Given the description of an element on the screen output the (x, y) to click on. 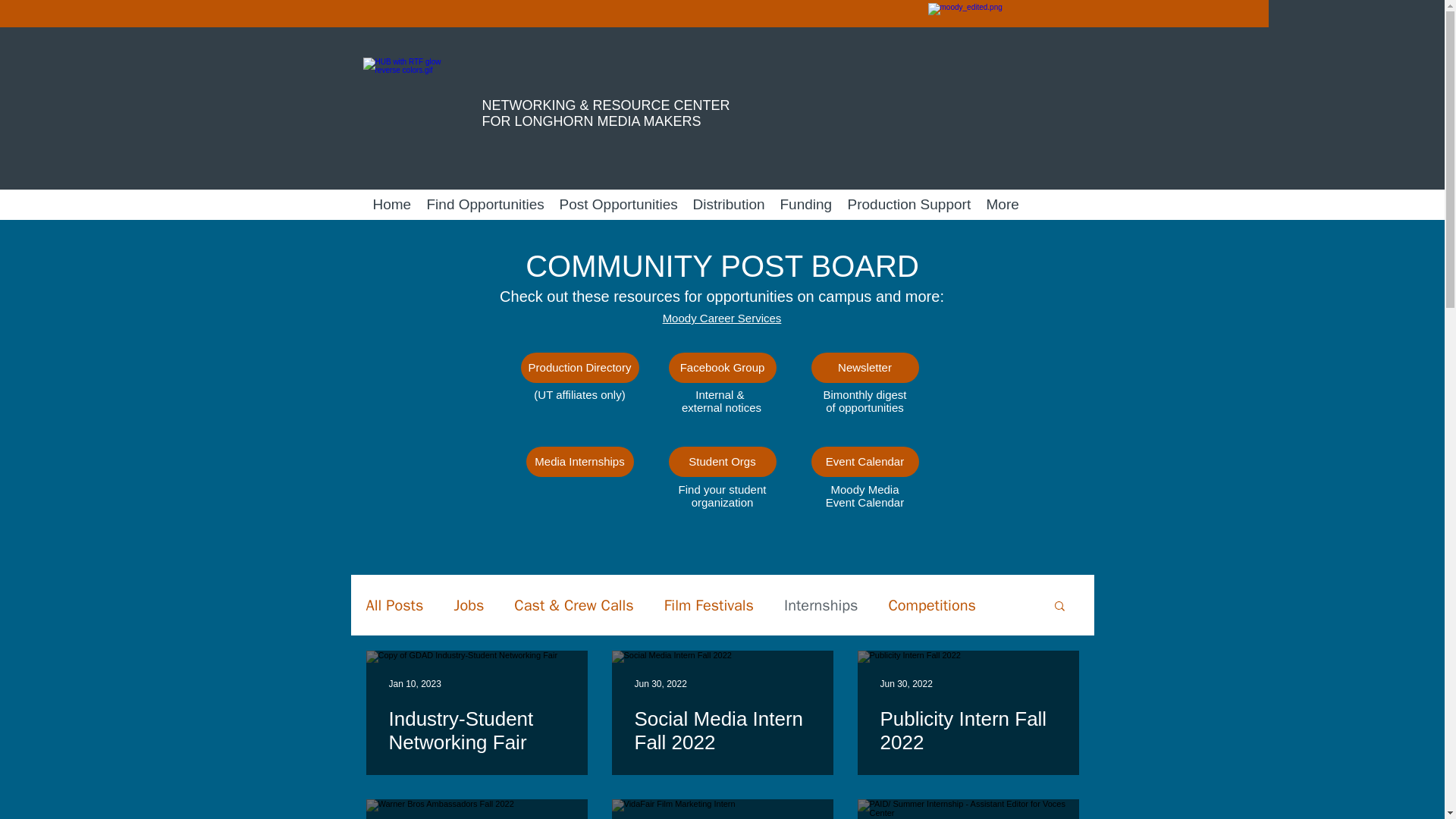
Publicity Intern Fall 2022 (967, 730)
Production Directory (579, 367)
More (1002, 204)
Film Festivals (708, 604)
Production Support (909, 204)
Jun 30, 2022 (659, 683)
Internships (820, 604)
Jun 30, 2022 (905, 683)
Jobs (467, 604)
Funding (805, 204)
Competitions (931, 604)
Post Opportunities (618, 204)
Home (392, 204)
Facebook Group (722, 367)
Distribution (729, 204)
